Given the description of an element on the screen output the (x, y) to click on. 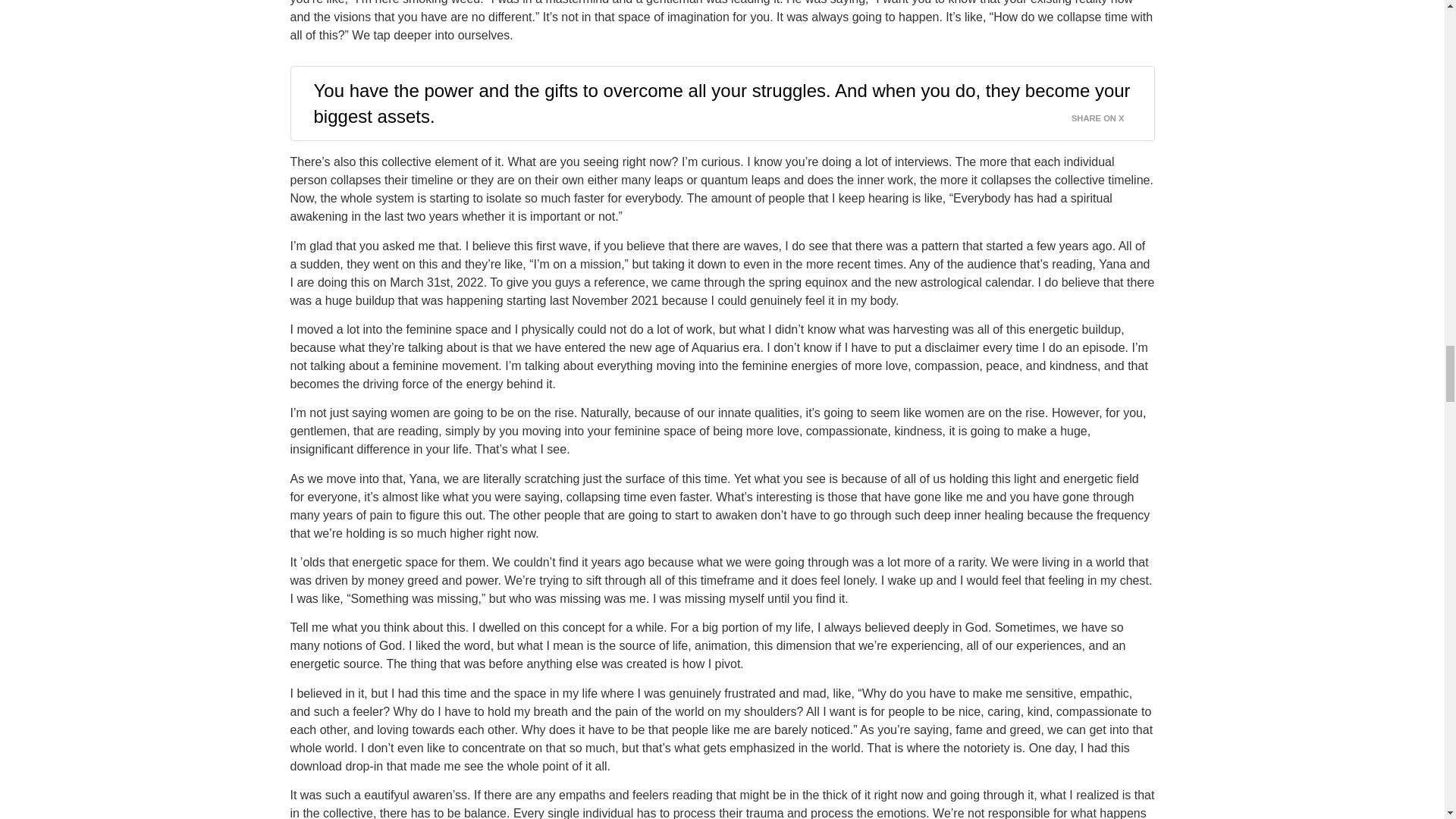
SHARE ON X (1106, 114)
